Given the description of an element on the screen output the (x, y) to click on. 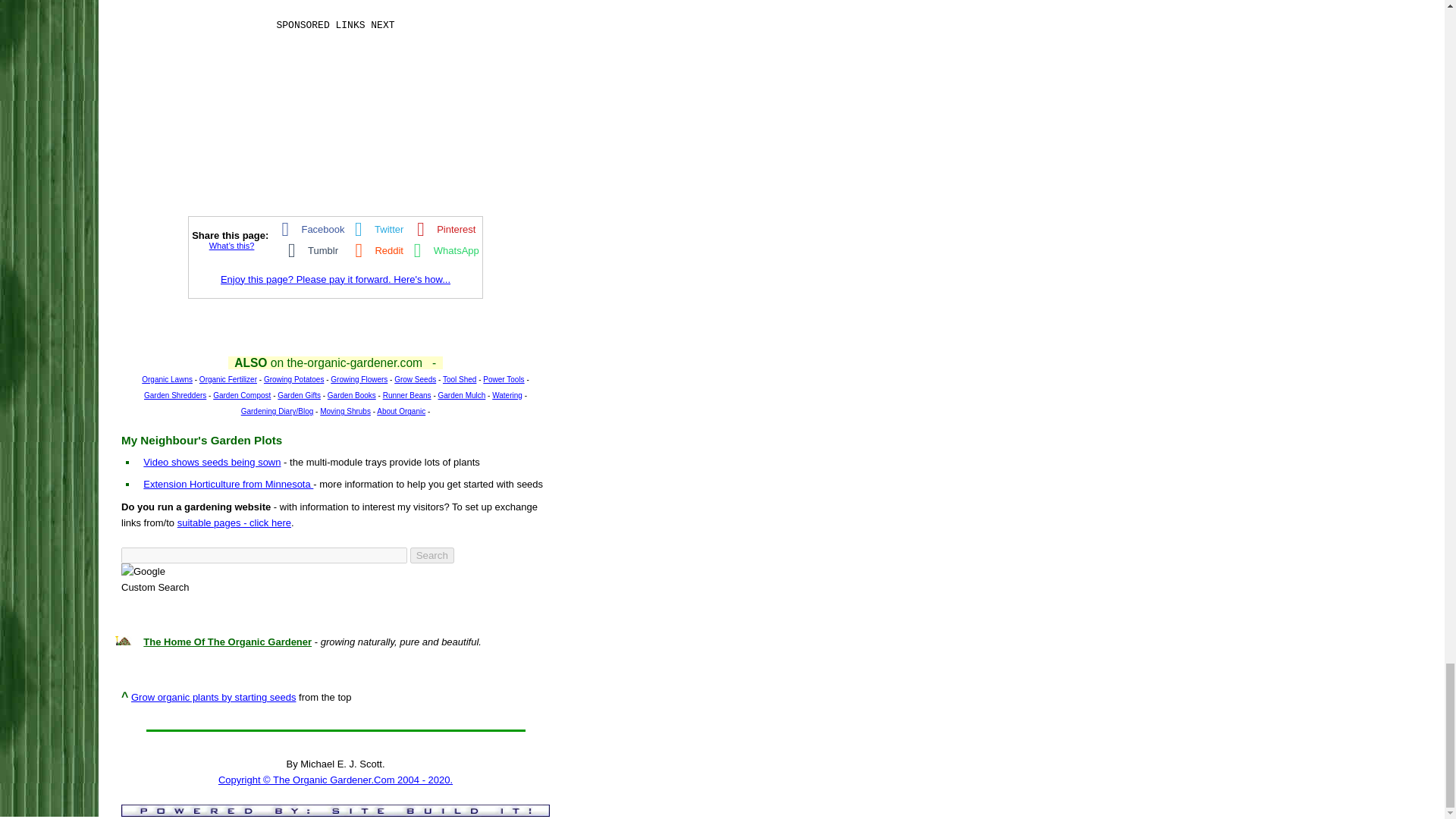
Search (432, 555)
Starting Seeds on the-organic-gardener.com (334, 730)
Site BuildIt on the-organic-gardener.com (335, 810)
